Given the description of an element on the screen output the (x, y) to click on. 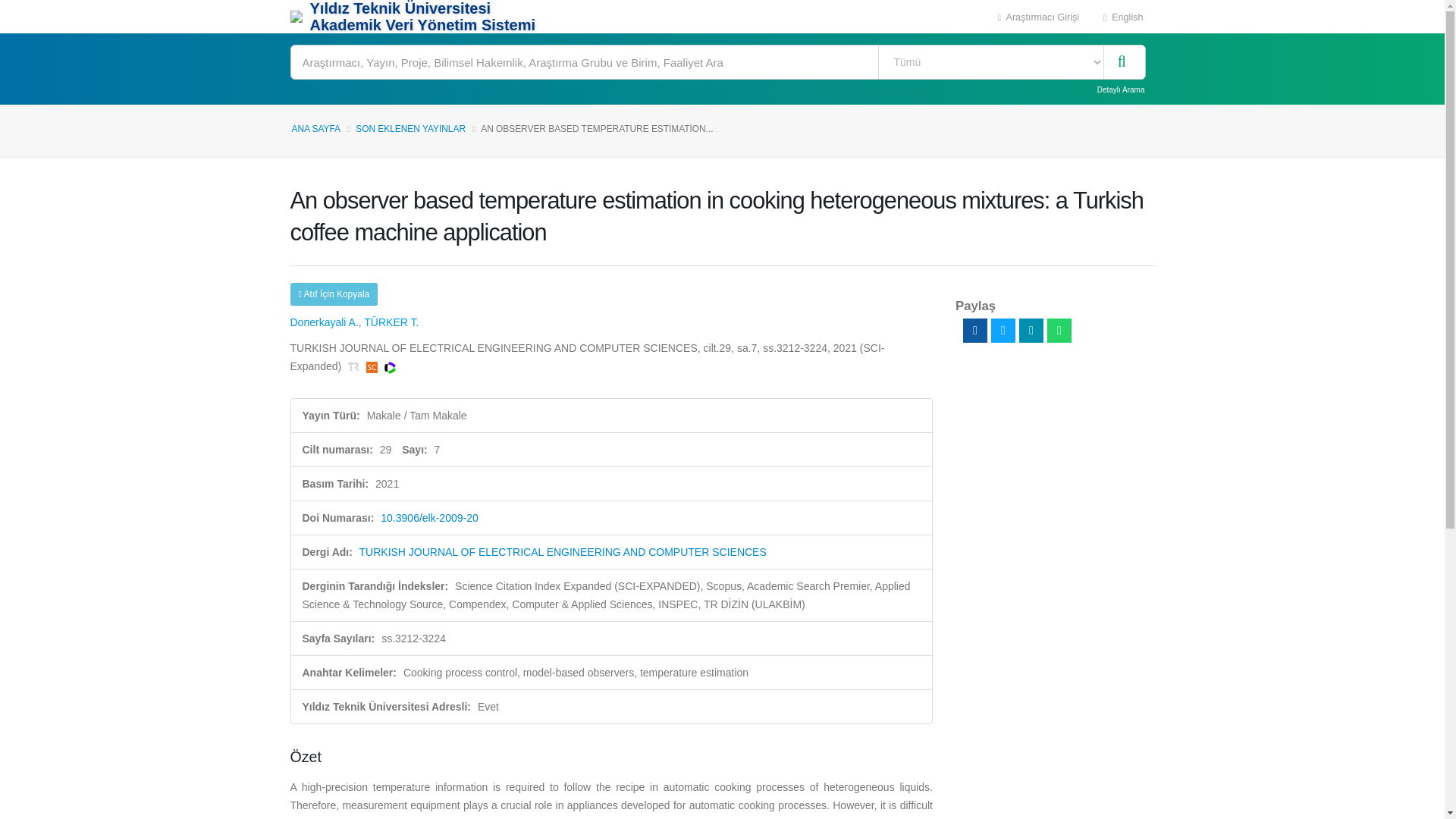
ANA SAYFA (315, 128)
SON EKLENEN YAYINLAR (410, 128)
Arda Donerkayali (323, 322)
Donerkayali A. (323, 322)
English (1123, 17)
